Given the description of an element on the screen output the (x, y) to click on. 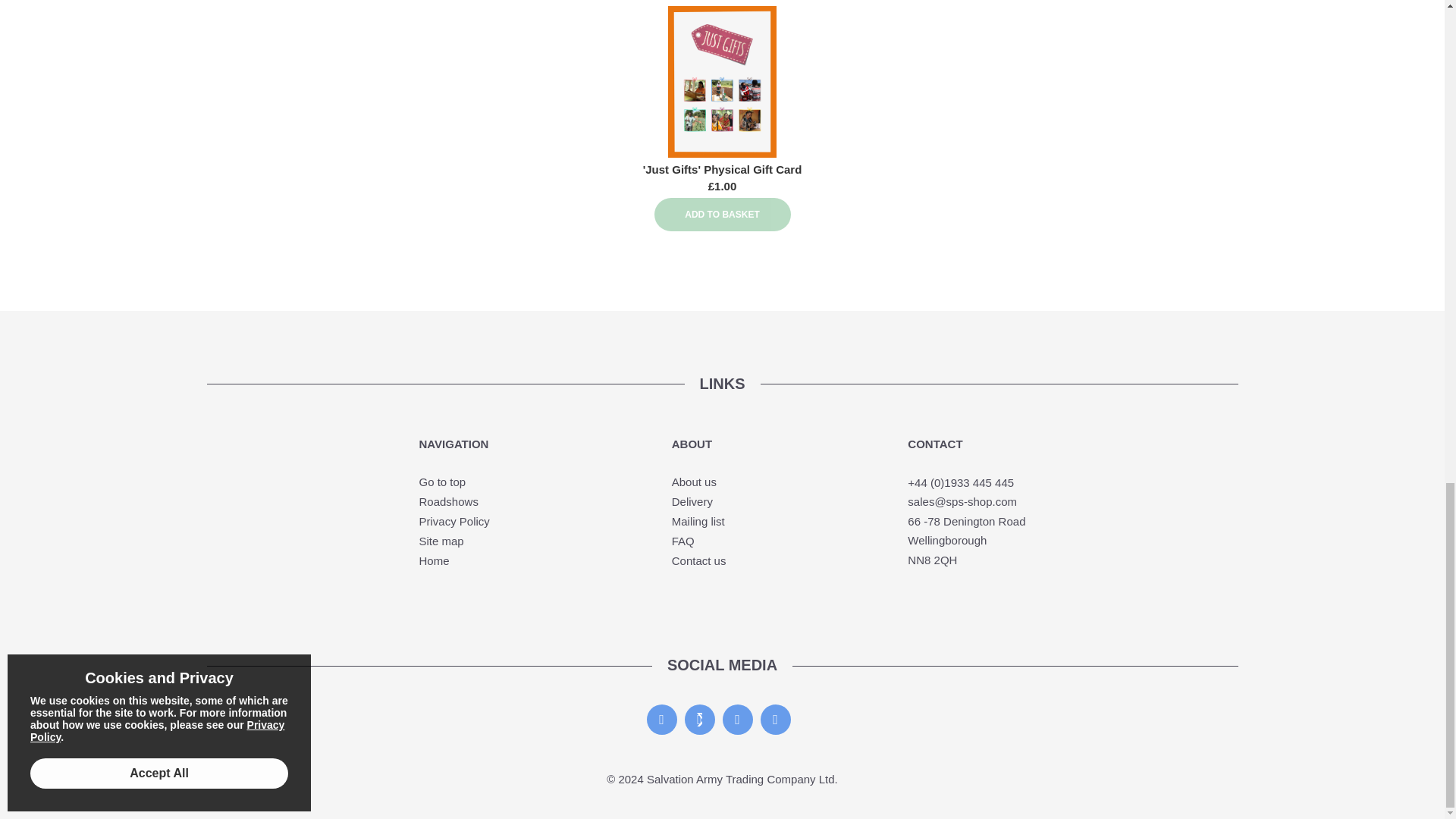
Roadshows (448, 501)
Mailing list (698, 521)
Contact us (698, 560)
Privacy Policy (454, 521)
Find Us on Facebook (661, 719)
'Just Gifts' Physical Gift Card (722, 169)
Go to top (442, 481)
Home (433, 560)
Find Us on Twitter (699, 719)
About us (693, 481)
